Given the description of an element on the screen output the (x, y) to click on. 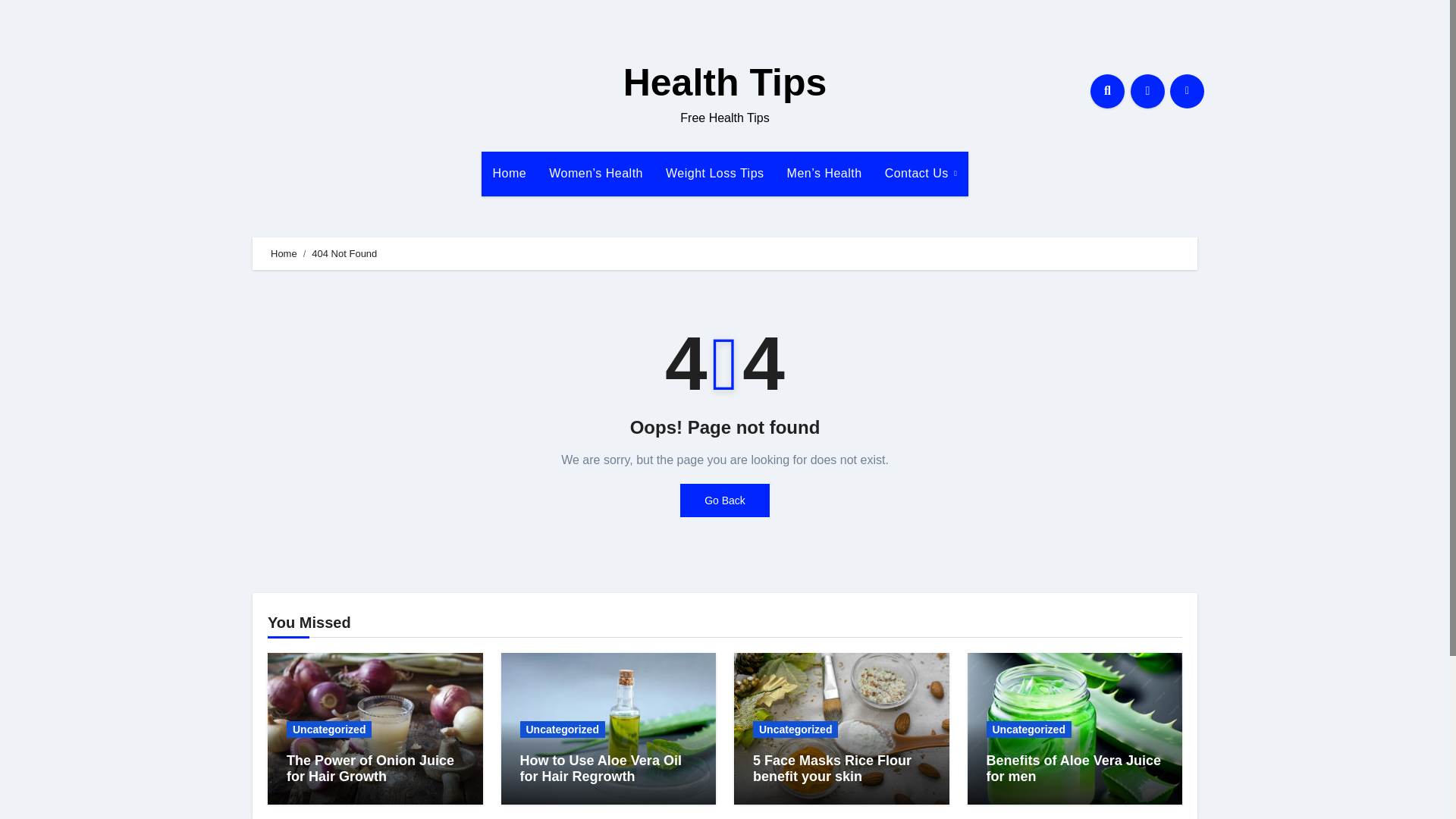
Uncategorized (562, 729)
Weight Loss Tips (714, 173)
Uncategorized (328, 729)
The Power of Onion Juice for Hair Growth (370, 768)
Uncategorized (795, 729)
Permalink to: 5 Face Masks Rice Flour benefit your skin (831, 768)
Home (283, 253)
Home (509, 173)
Permalink to: Benefits of Aloe Vera Juice for men (1072, 768)
Home (509, 173)
Men's Health (824, 173)
Contact Us (921, 173)
Health Tips (725, 82)
Benefits of Aloe Vera Juice for men (1072, 768)
Weight Loss Tips (714, 173)
